Given the description of an element on the screen output the (x, y) to click on. 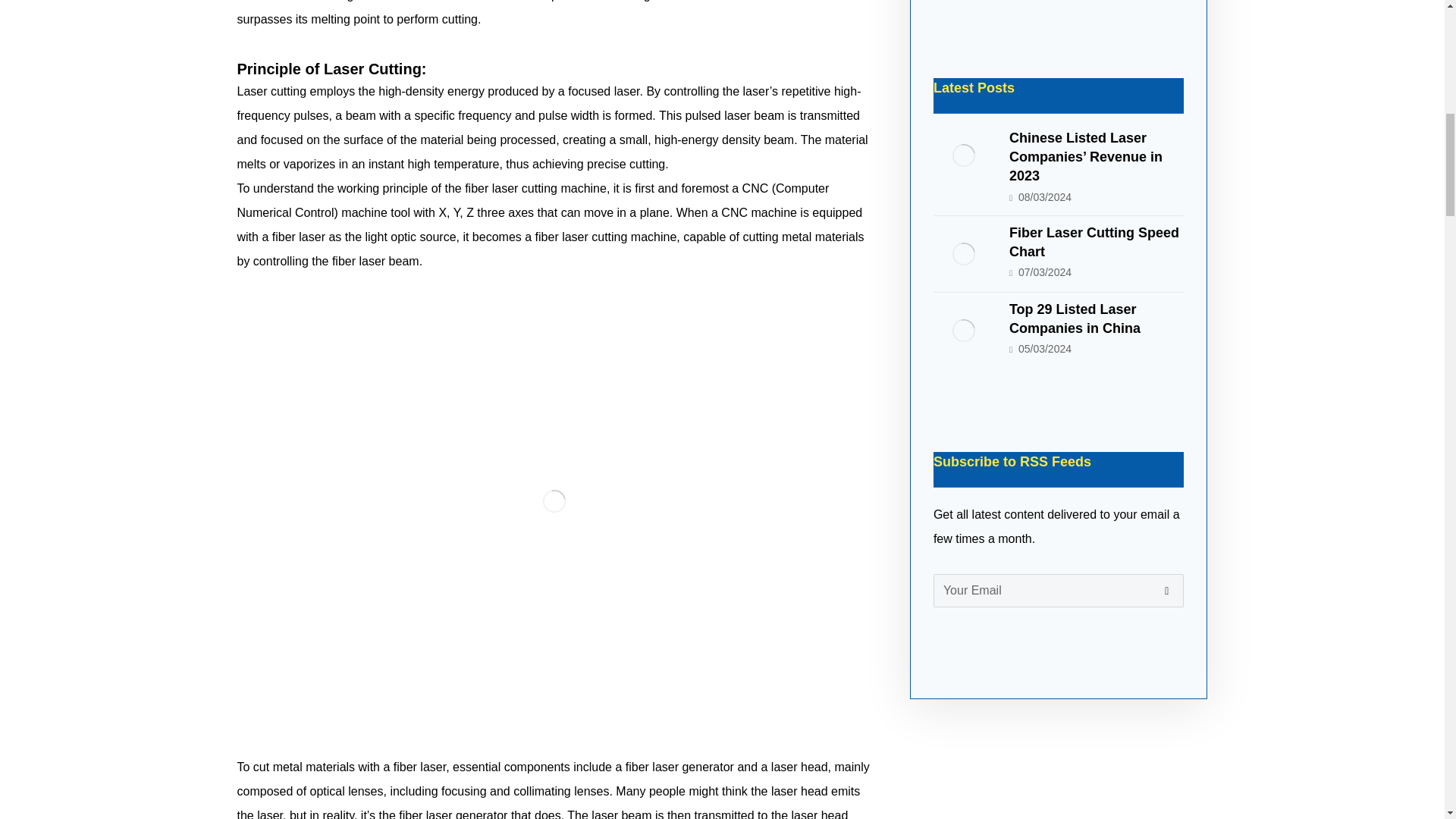
Top 29 Listed Laser Companies in China (963, 330)
Top 29 Listed Laser Companies in China (1074, 318)
Fiber Laser Cutting Speed Chart (963, 253)
Fiber Laser Cutting Speed Chart (1094, 242)
